Given the description of an element on the screen output the (x, y) to click on. 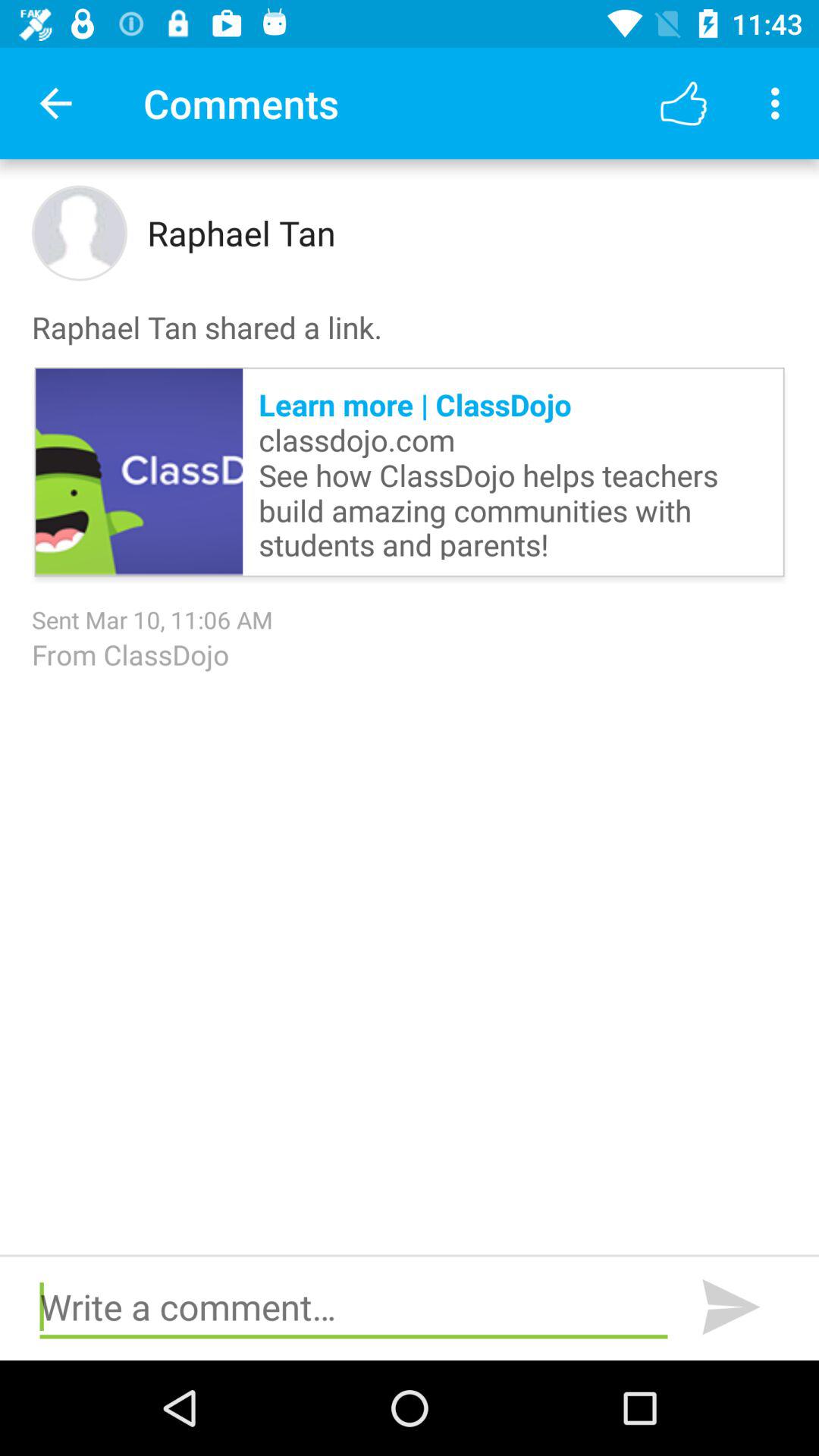
tap icon to the right of comments item (683, 103)
